Given the description of an element on the screen output the (x, y) to click on. 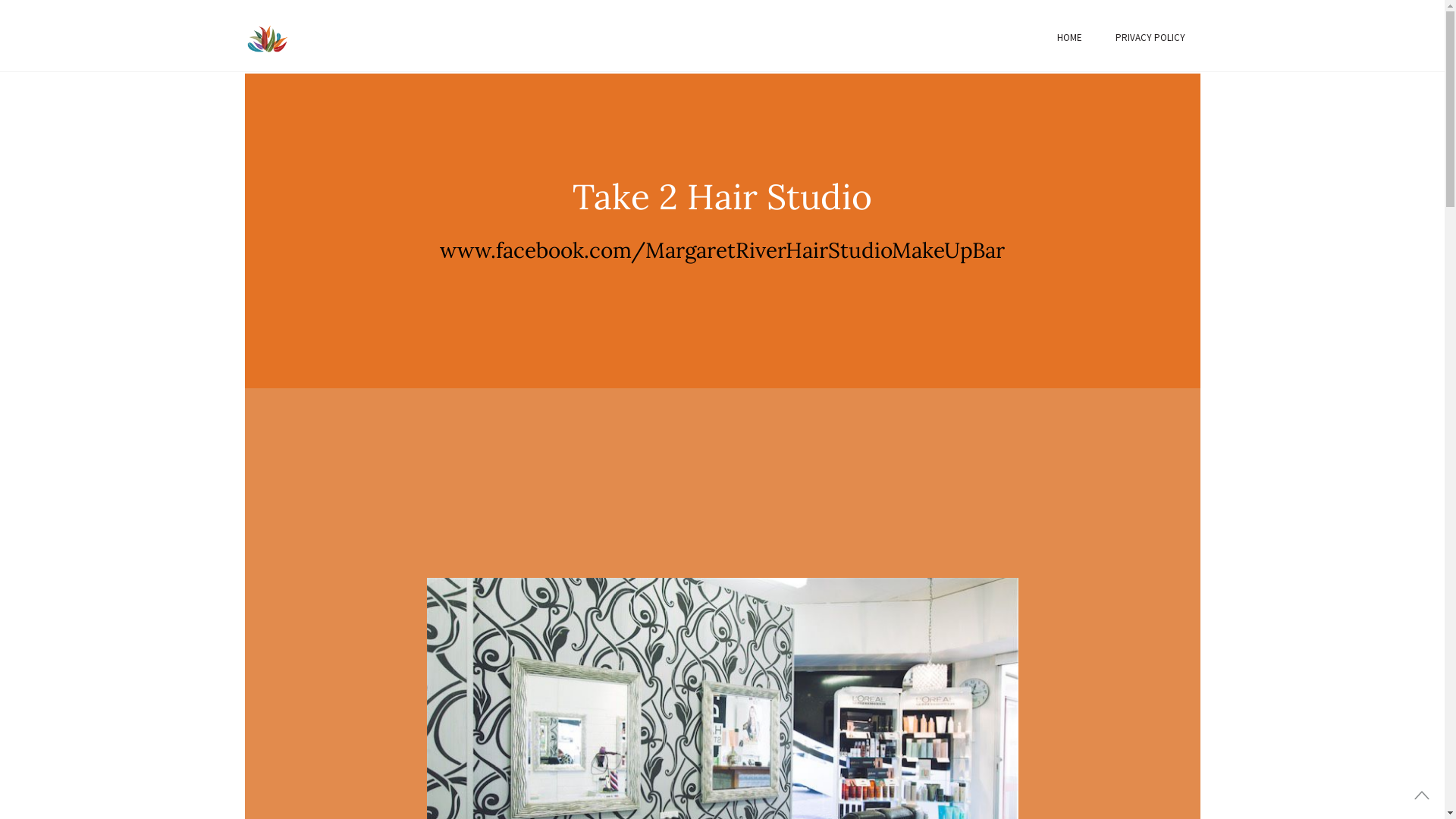
HOME Element type: text (1069, 37)
PRIVACY POLICY Element type: text (1149, 37)
www.facebook.com/MargaretRiverHairStudioMakeUpBar Element type: text (721, 249)
